Given the description of an element on the screen output the (x, y) to click on. 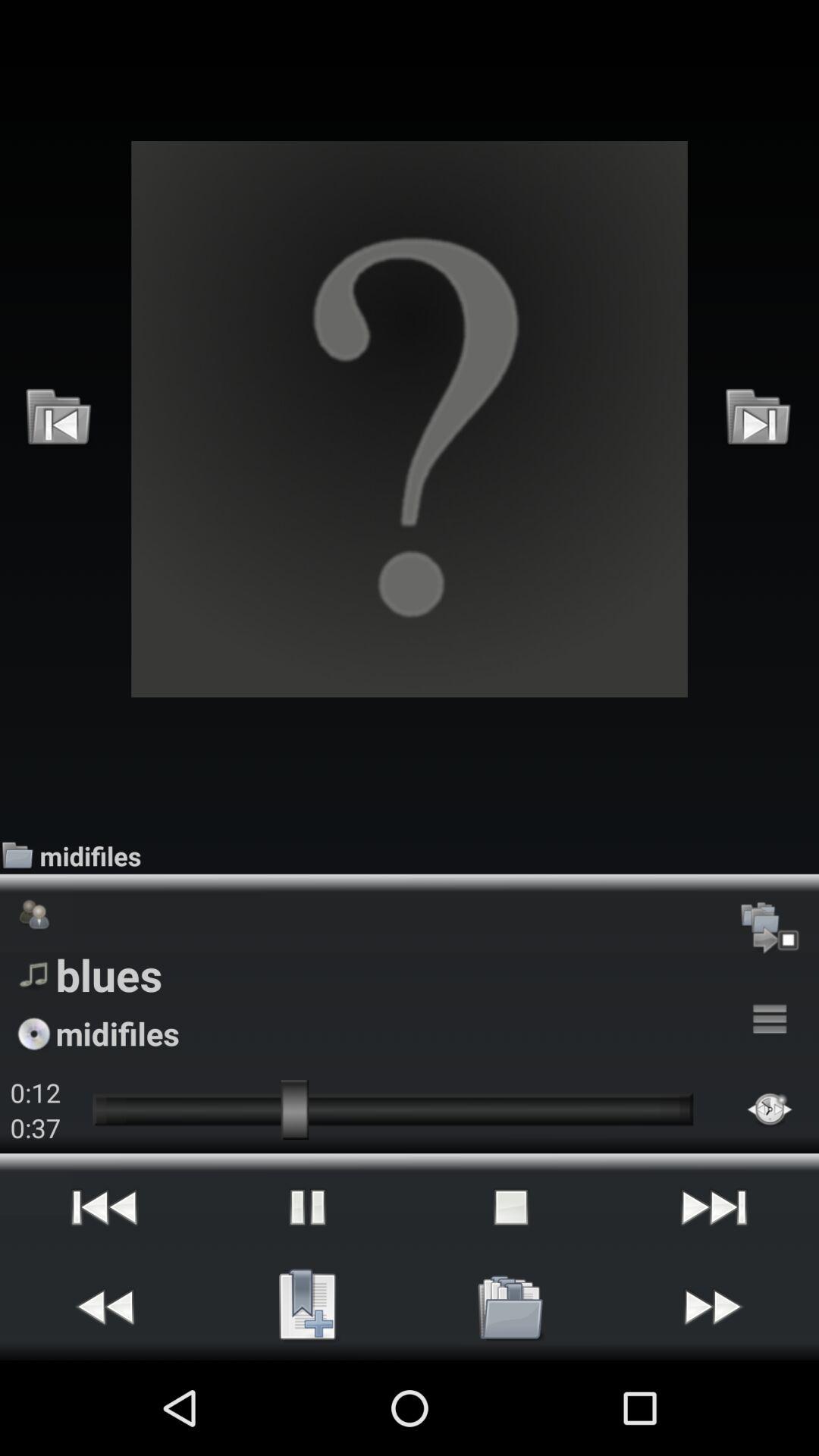
turn on the icon at the top right corner (758, 418)
